Given the description of an element on the screen output the (x, y) to click on. 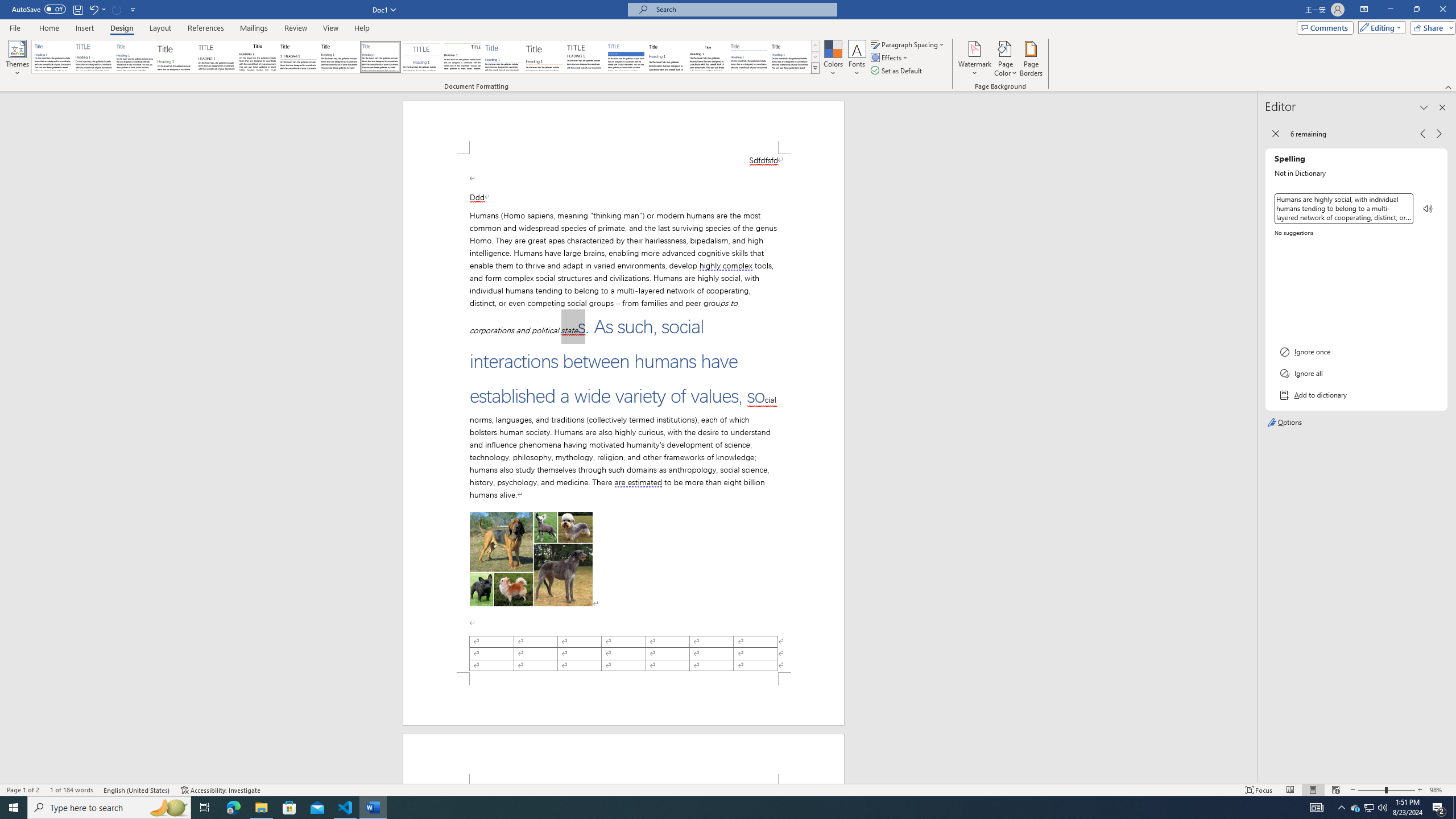
Options (1356, 422)
Undo Outline Move Up (96, 9)
Minimalist (584, 56)
Ignore once (1356, 351)
Page Borders... (1031, 58)
Basic (Simple) (135, 56)
Lines (Stylish) (544, 56)
